Given the description of an element on the screen output the (x, y) to click on. 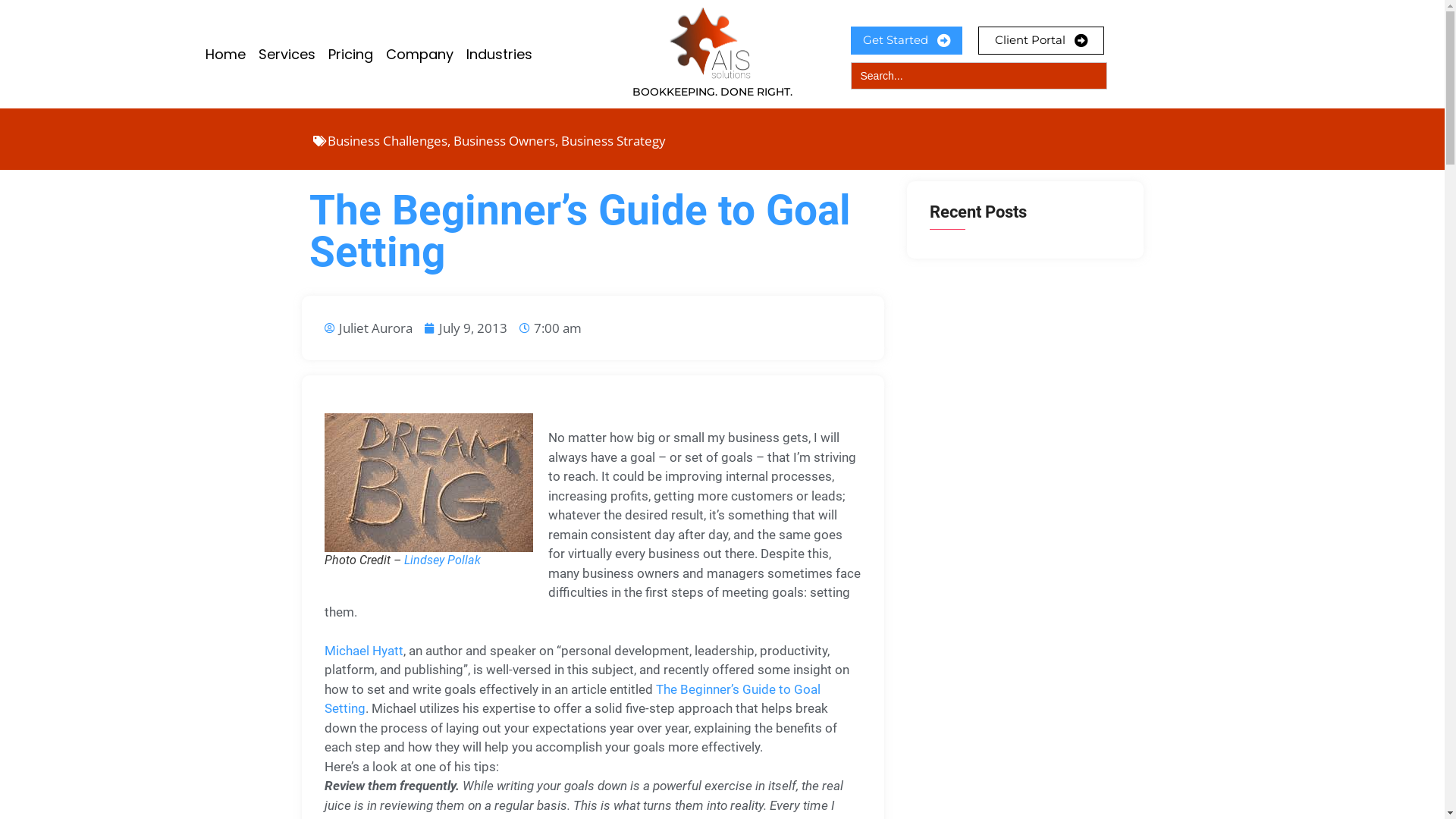
Client Portal Element type: text (1041, 40)
Michael Hyatt Element type: text (363, 660)
Pricing Element type: text (349, 54)
July 9, 2013 Element type: text (465, 328)
Business Strategy Element type: text (613, 140)
Juliet Aurora Element type: text (368, 328)
Dream Big Element type: hover (428, 482)
Lindsey Pollak Element type: text (441, 559)
Industries Element type: text (498, 54)
Business Challenges Element type: text (387, 140)
Get Started Element type: text (906, 40)
Services Element type: text (285, 54)
Home Element type: text (224, 54)
Business Owners Element type: text (504, 140)
Company Element type: text (418, 54)
